Given the description of an element on the screen output the (x, y) to click on. 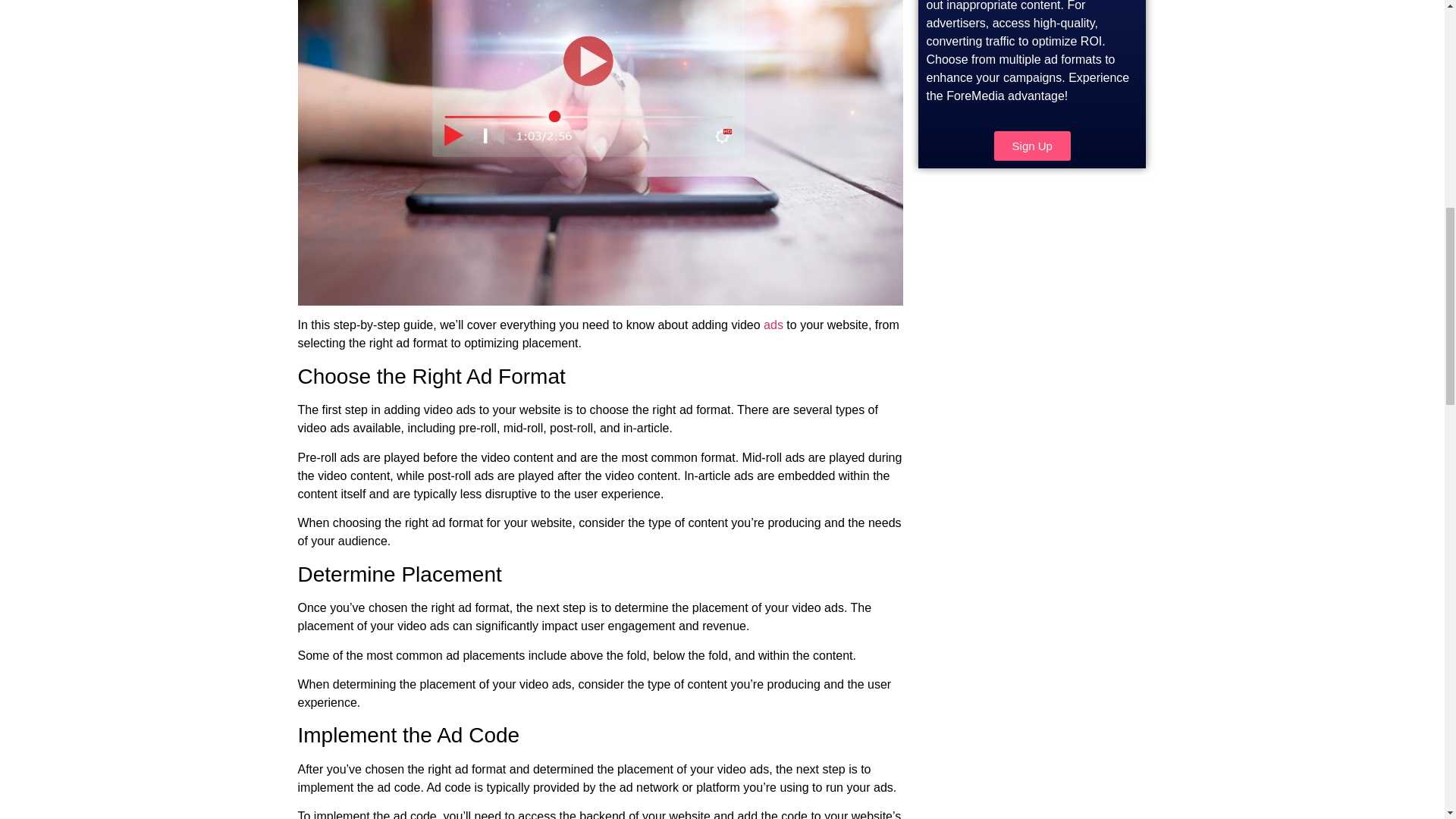
Sign Up (1032, 145)
ads (772, 324)
ads (772, 324)
